Given the description of an element on the screen output the (x, y) to click on. 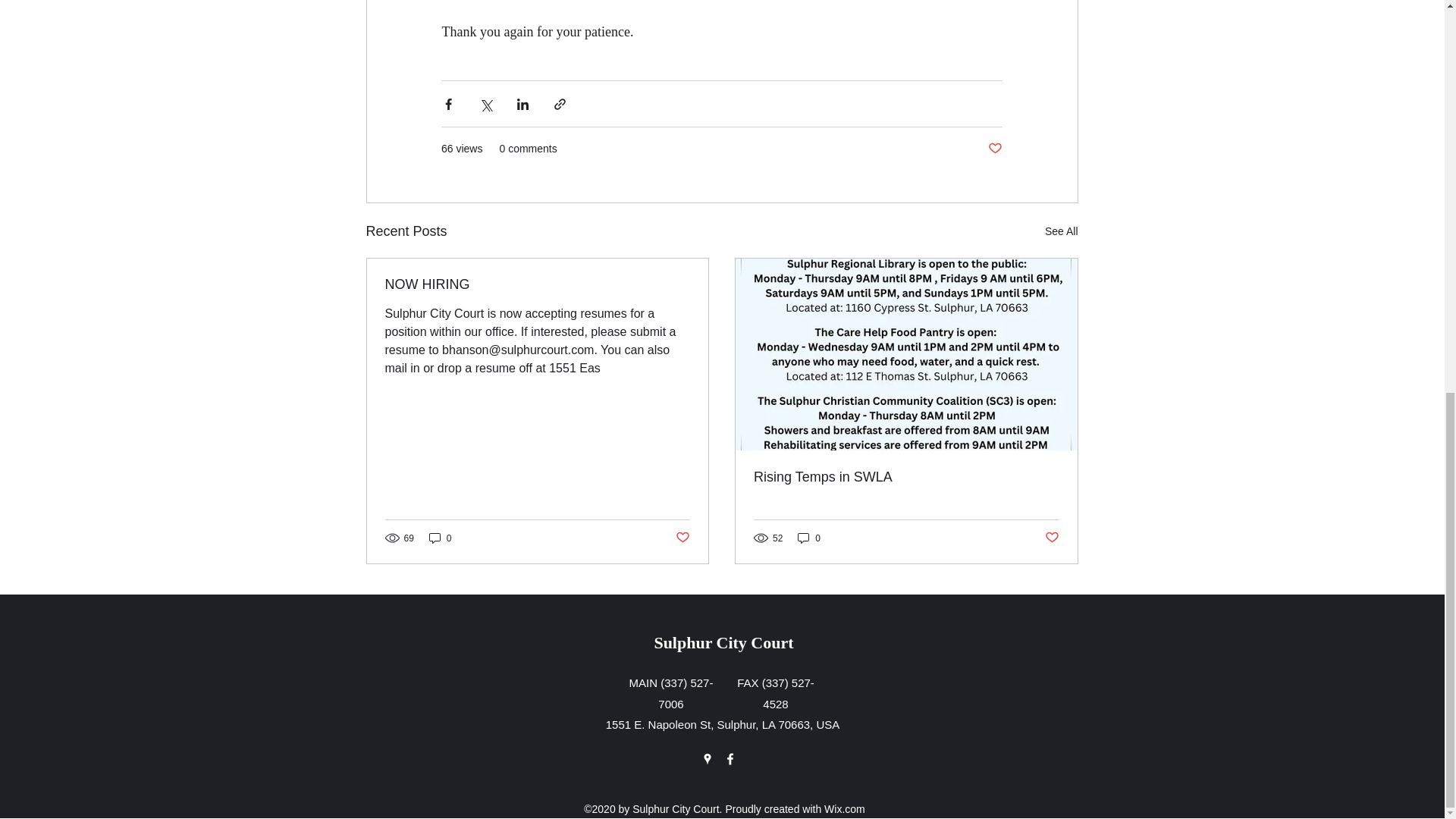
Post not marked as liked (995, 148)
0 (809, 537)
Post not marked as liked (1052, 537)
See All (1061, 231)
Rising Temps in SWLA (906, 477)
0 (440, 537)
Sulphur City Court (723, 642)
Post not marked as liked (682, 537)
NOW HIRING (537, 284)
